Given the description of an element on the screen output the (x, y) to click on. 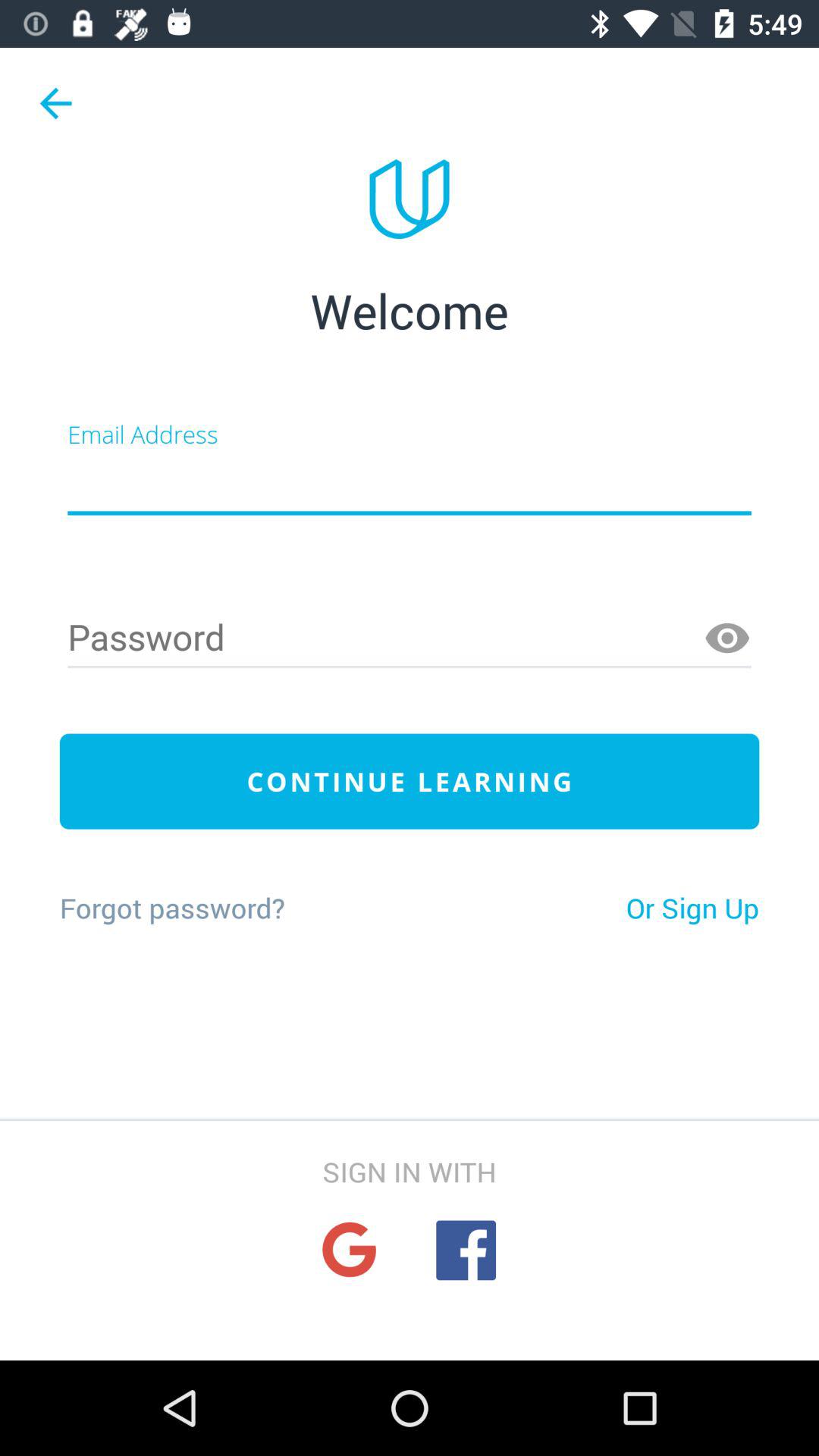
sign in with google (348, 1249)
